Given the description of an element on the screen output the (x, y) to click on. 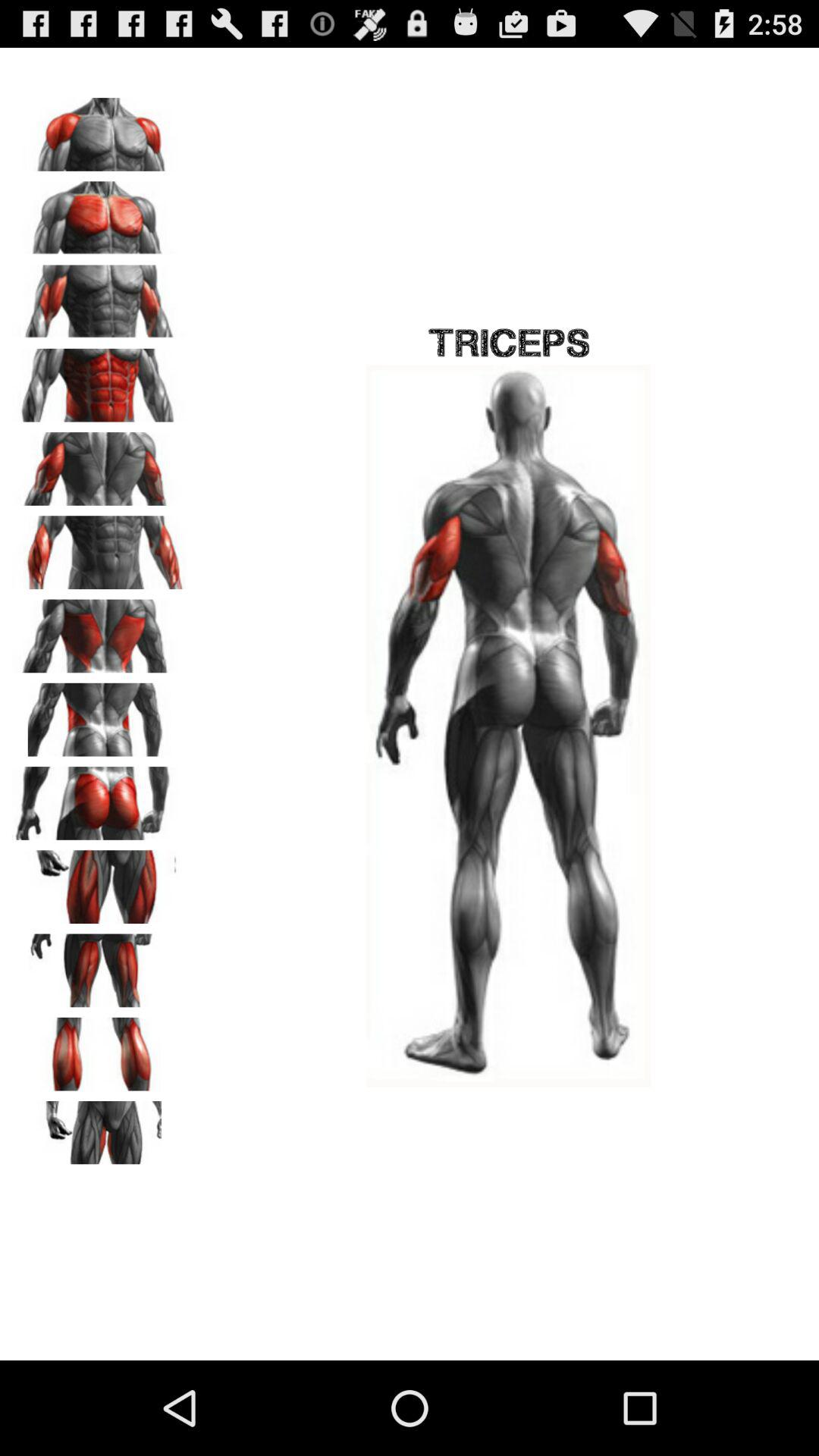
image that can change the view of the main image on the right (99, 630)
